Given the description of an element on the screen output the (x, y) to click on. 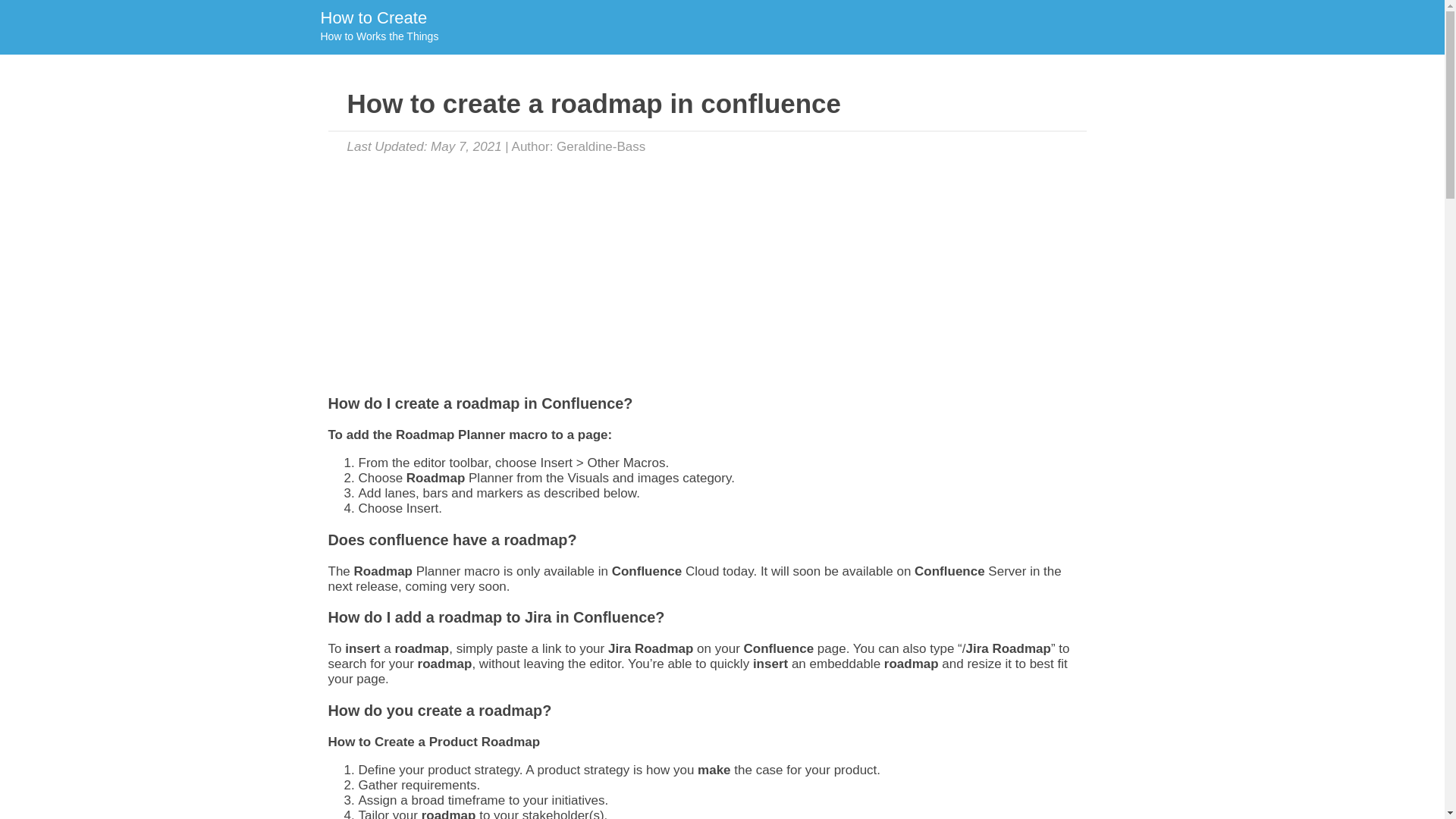
Advertisement (378, 27)
